Given the description of an element on the screen output the (x, y) to click on. 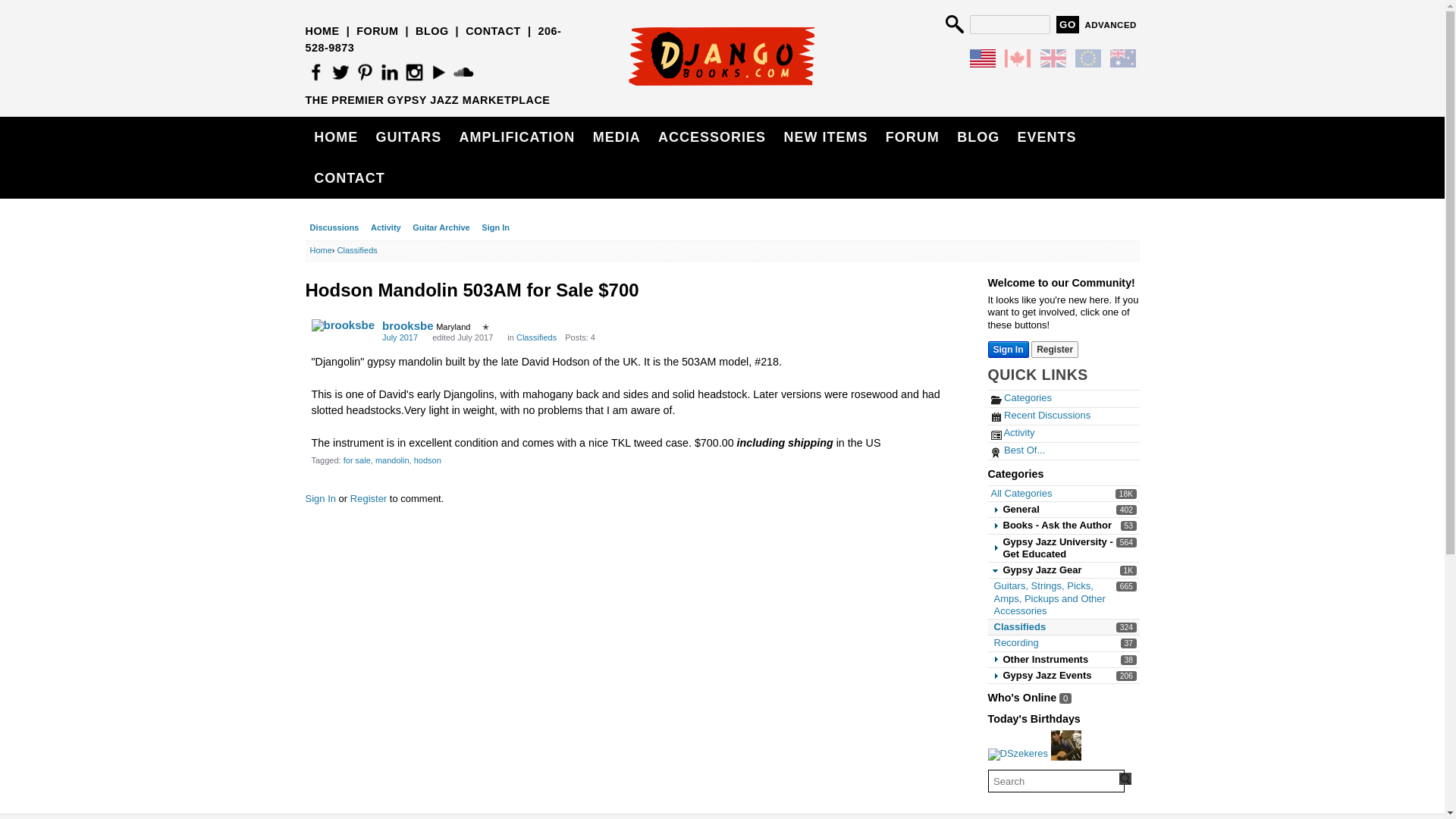
Activity (386, 227)
Guitar Archive (440, 227)
Recent Discussions (1040, 414)
Discussions (333, 227)
564 discussions (1125, 542)
Register (1020, 492)
Home (1054, 349)
402 discussions (319, 249)
Go (1125, 510)
Categories (1015, 642)
Sign In (1067, 24)
Classifieds (1020, 397)
